Given the description of an element on the screen output the (x, y) to click on. 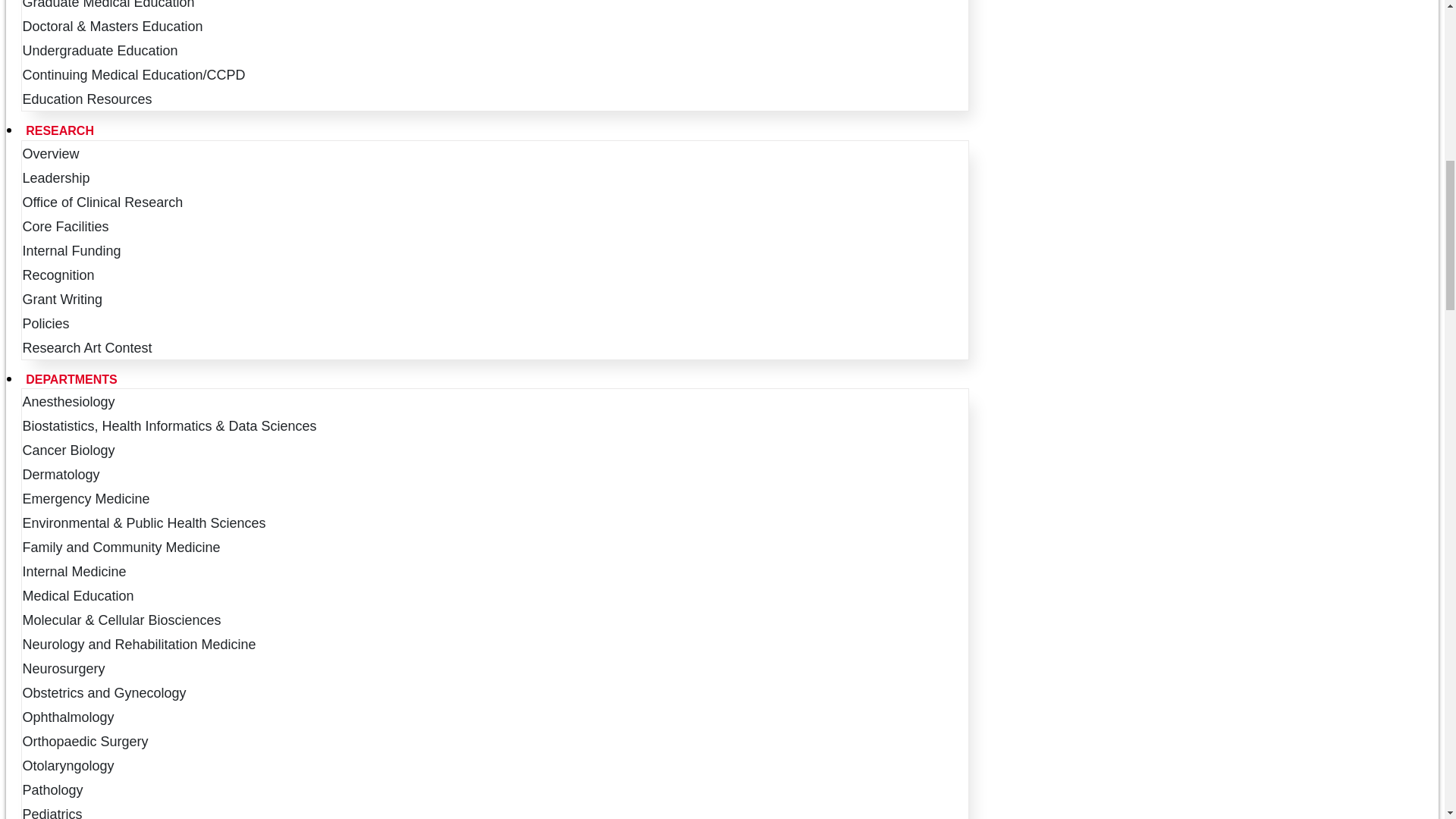
Education Resources (92, 99)
Graduate Medical Education (113, 4)
RESEARCH (495, 130)
Undergraduate Education (105, 50)
